Given the description of an element on the screen output the (x, y) to click on. 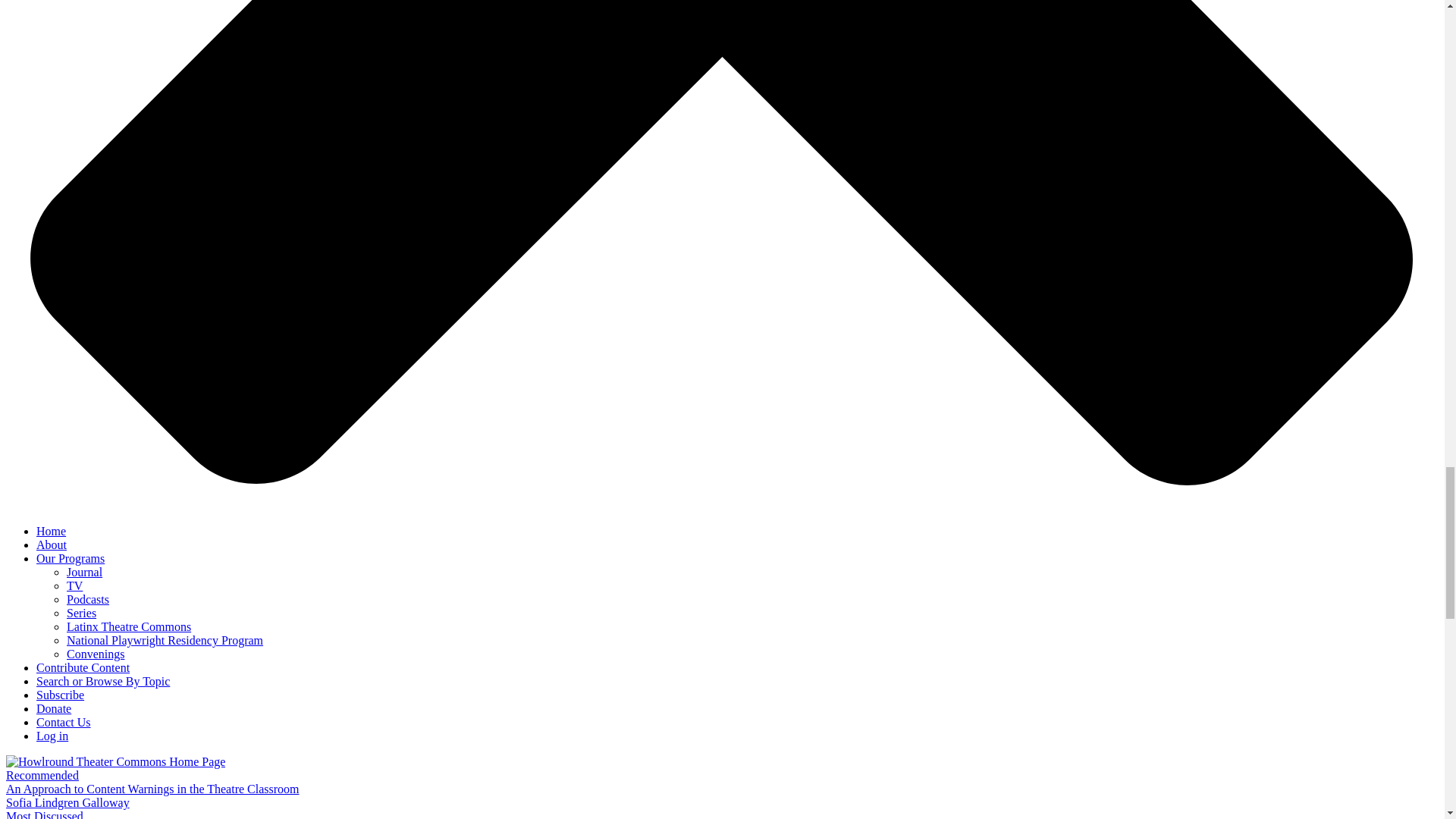
Subscribe (60, 694)
Home (50, 530)
Donate (53, 707)
About (51, 544)
Contact Us (63, 721)
Podcasts (87, 599)
Journal (83, 571)
Contribute Content (82, 667)
Series (81, 612)
TV (74, 585)
